Given the description of an element on the screen output the (x, y) to click on. 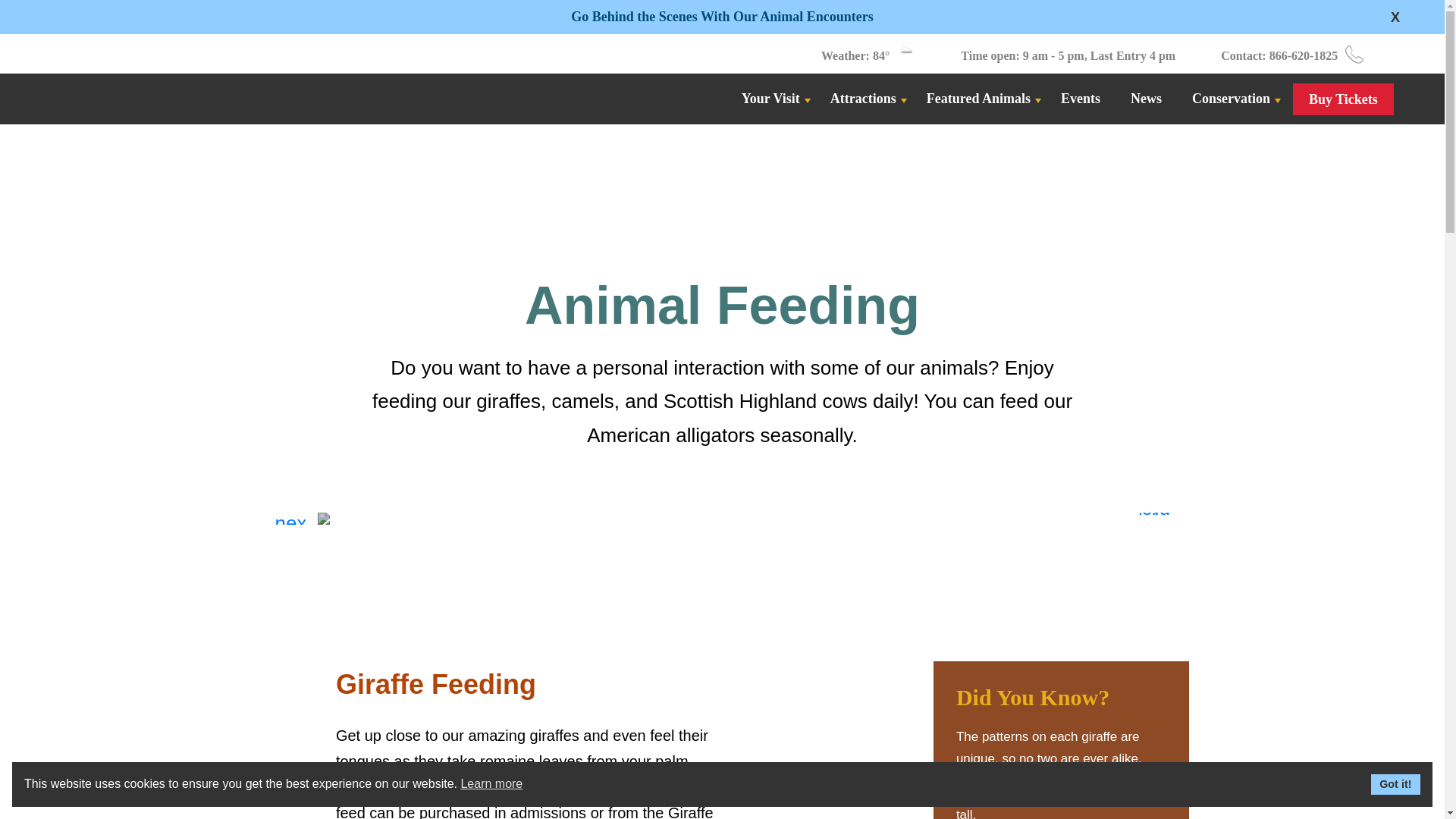
Your Visit (770, 97)
Contact: 866-620-1825 (1279, 55)
Got it! (1396, 783)
Time open: 9 am - 5 pm, Last Entry 4 pm (1067, 55)
X (1395, 16)
Featured Animals (978, 97)
Conservation (1231, 97)
Events (1080, 97)
Gulf Breeze Zoo (90, 97)
Learn more (491, 783)
Go Behind the Scenes With Our Animal Encounters (721, 16)
News (1145, 97)
Attractions (863, 97)
